Given the description of an element on the screen output the (x, y) to click on. 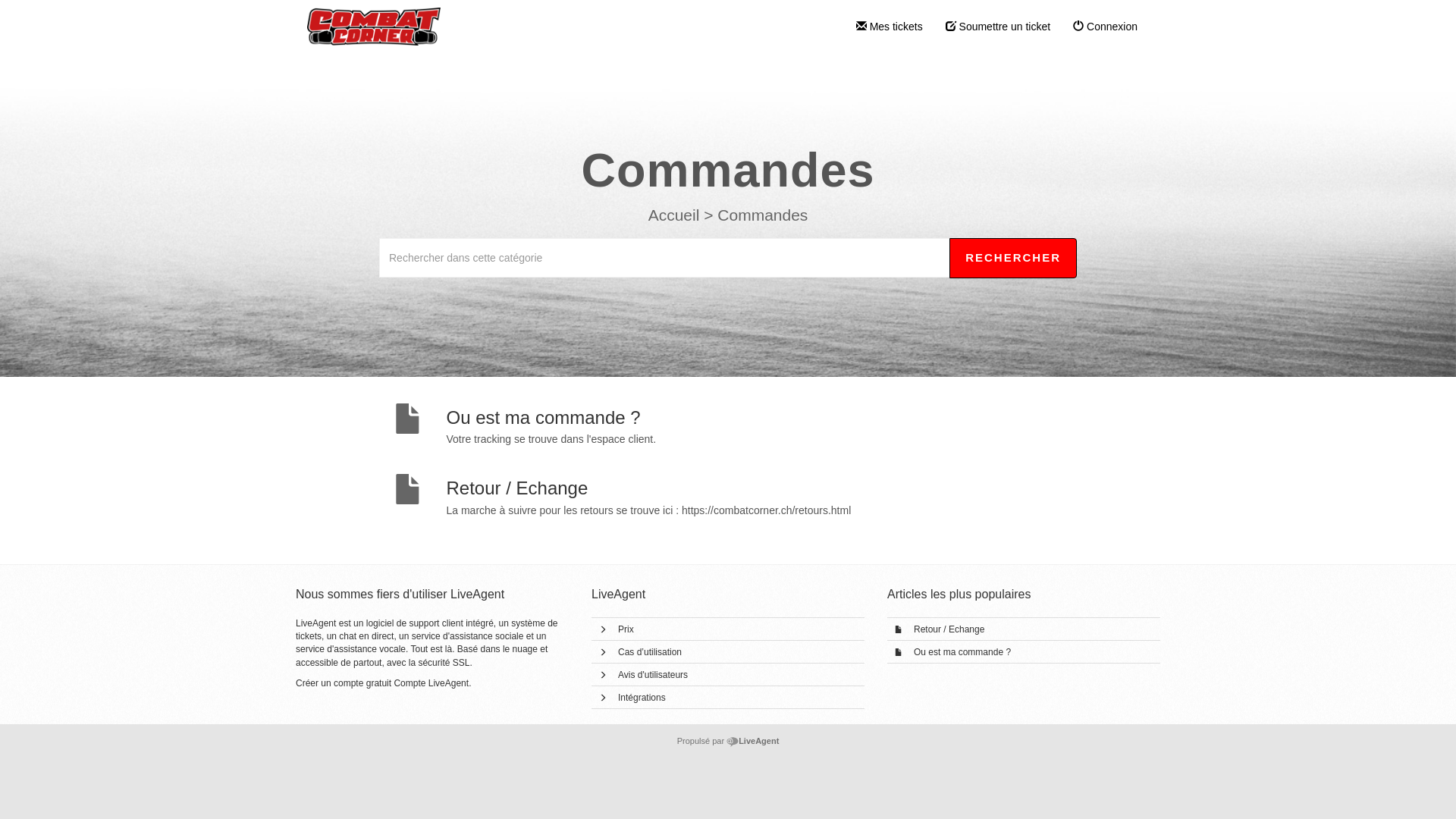
Connexion Element type: text (1104, 26)
Rechercher Element type: text (1012, 257)
Mes tickets Element type: text (889, 26)
Prix Element type: text (625, 629)
Avis d'utilisateurs Element type: text (652, 674)
LiveAgent Element type: text (752, 740)
Soumettre un ticket Element type: text (998, 26)
Ou est ma commande ? Element type: text (961, 651)
Accueil Element type: text (676, 214)
Compte LiveAgent Element type: text (430, 682)
Retour / Echange Element type: text (948, 629)
